Given the description of an element on the screen output the (x, y) to click on. 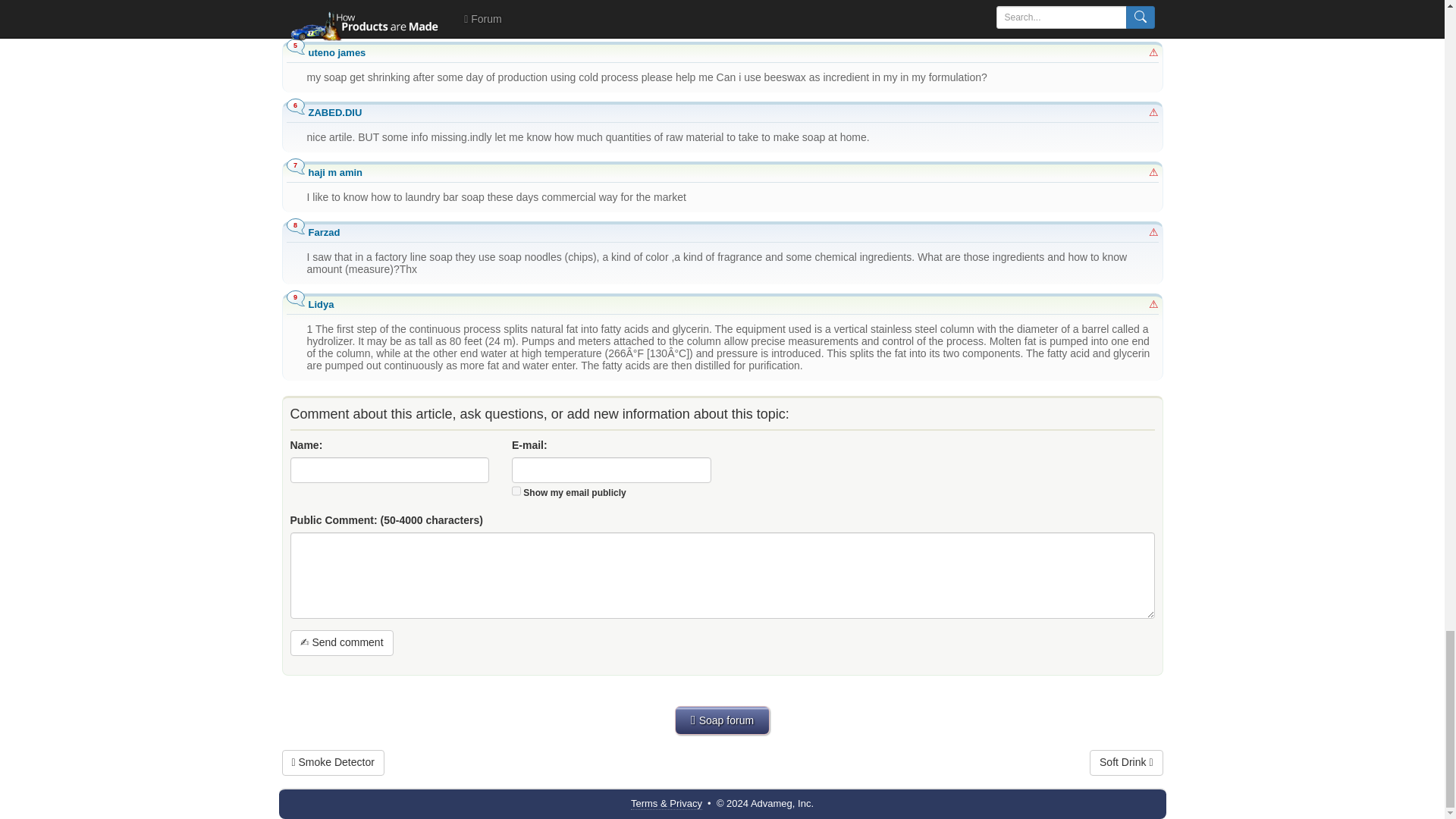
uteno james (336, 52)
Soap forum (722, 719)
Smoke Detector (333, 762)
Soft Drink (1125, 762)
1 (516, 491)
